Given the description of an element on the screen output the (x, y) to click on. 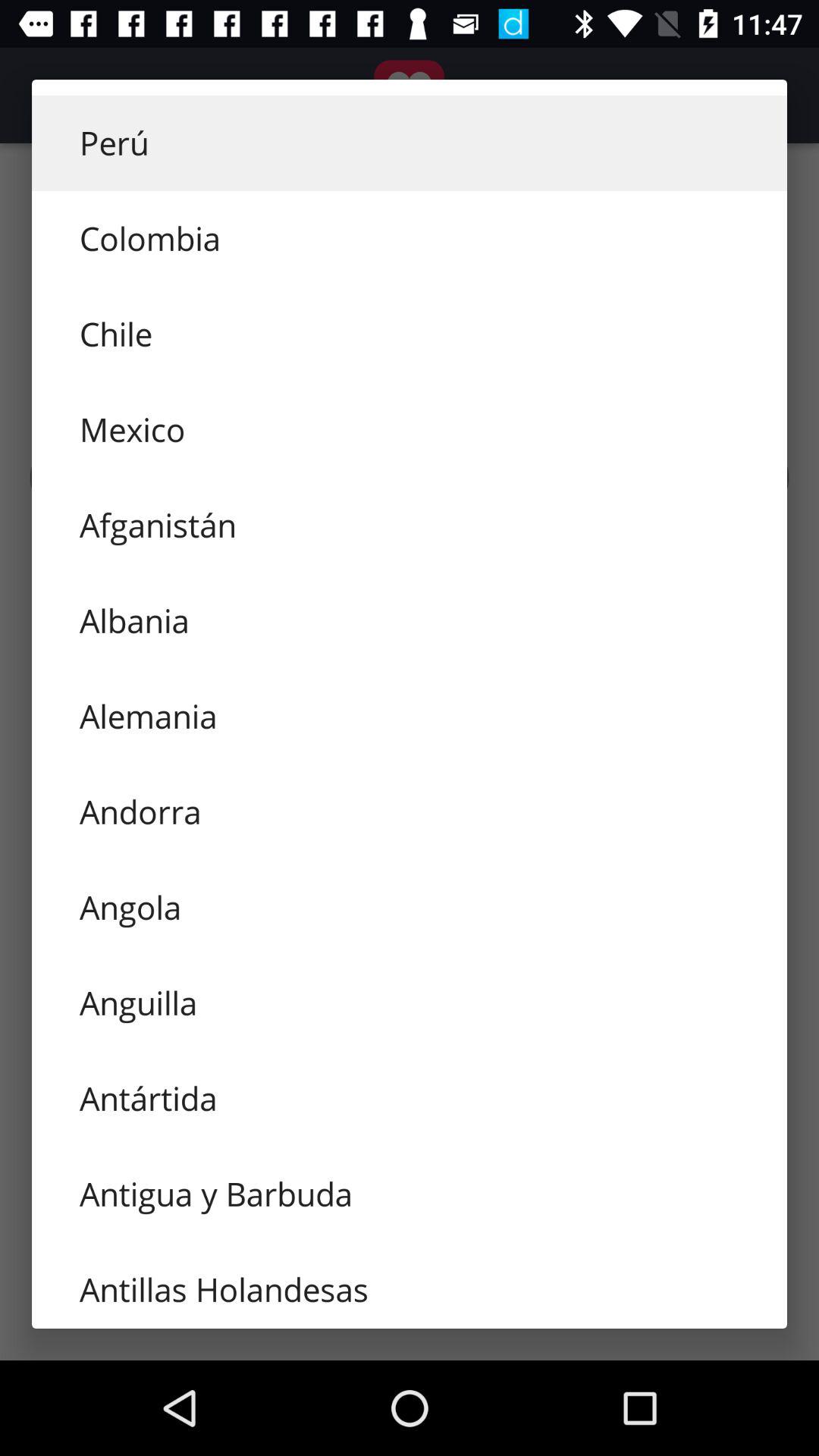
choose the anguilla (409, 1003)
